Given the description of an element on the screen output the (x, y) to click on. 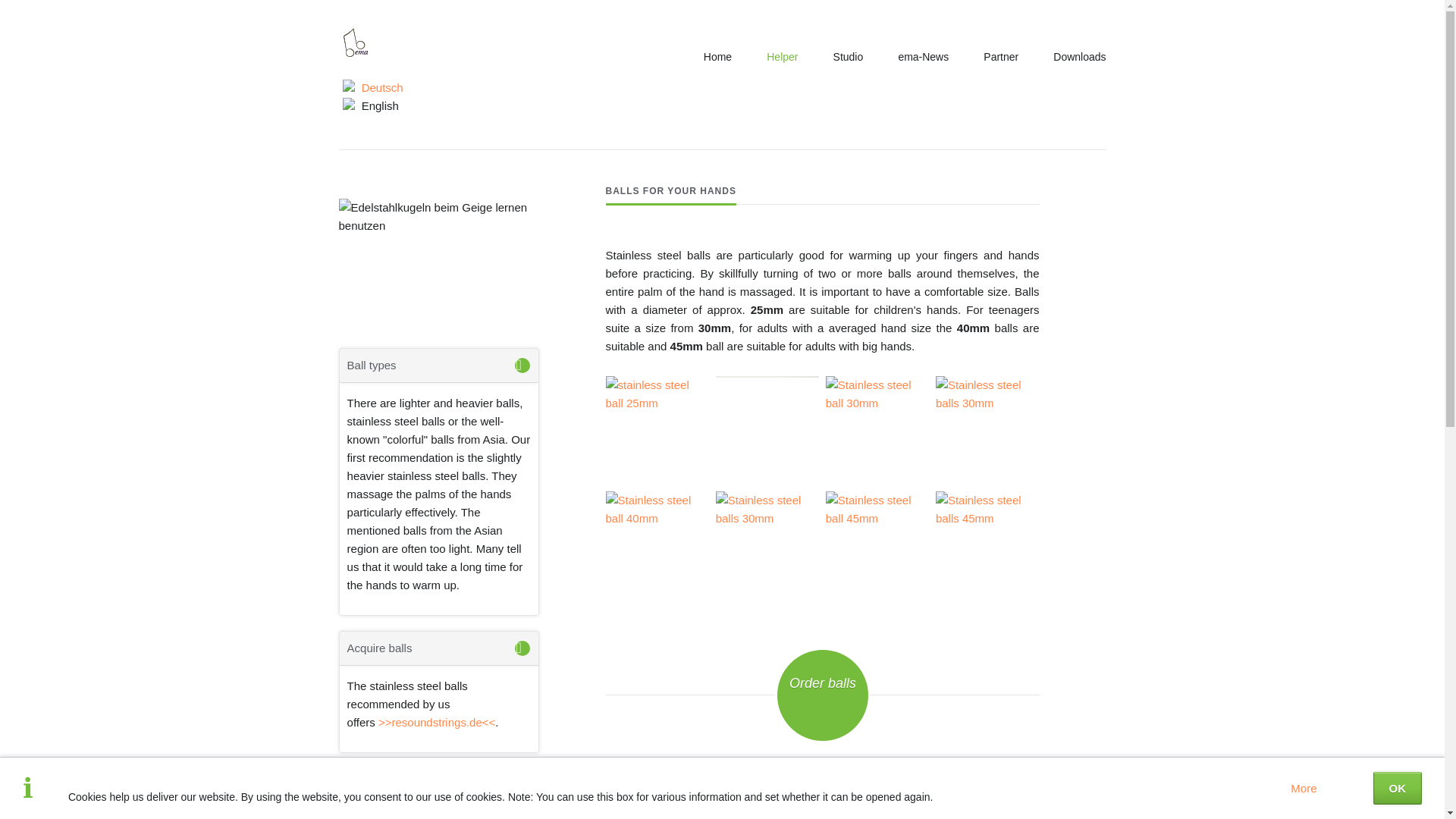
stainless steel ball 25mm (657, 427)
Partners of ema-Musik (1000, 56)
Downloads (1079, 56)
Partner (1000, 56)
OK (1397, 788)
More (1303, 788)
For violinists, violists, cellists and double bass players (717, 56)
Balls (372, 87)
Order balls (822, 695)
Deutsch (372, 87)
Home (717, 56)
Valuable helpers for violin teachers and viola teachers (781, 56)
ema-News (922, 56)
For violin teachers and viola teachers (848, 56)
